Given the description of an element on the screen output the (x, y) to click on. 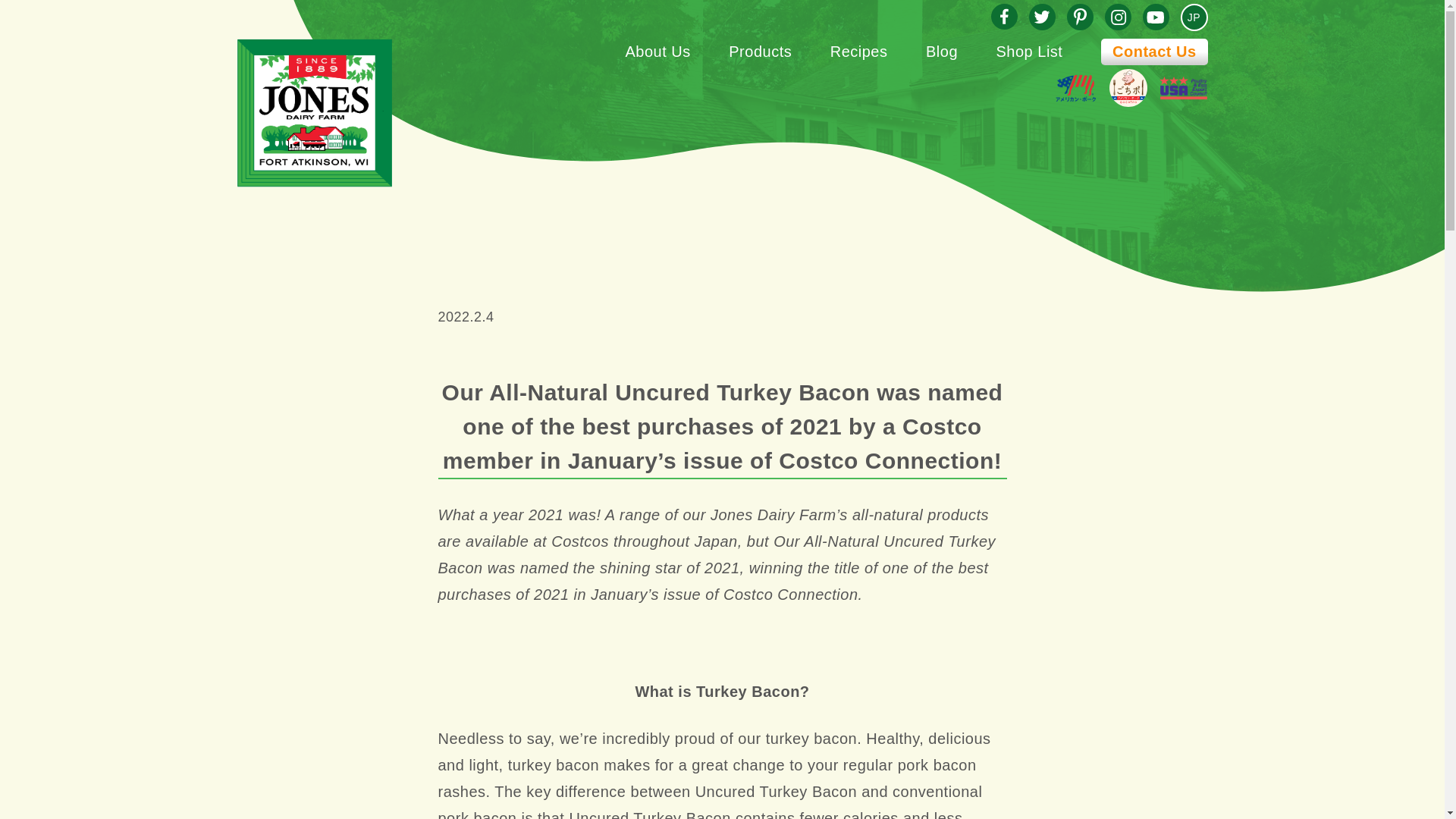
Blog (942, 51)
JP (1193, 17)
Recipes (858, 51)
Shop List (1028, 51)
Contact Us (1154, 51)
About Us (657, 51)
Products (760, 51)
